Given the description of an element on the screen output the (x, y) to click on. 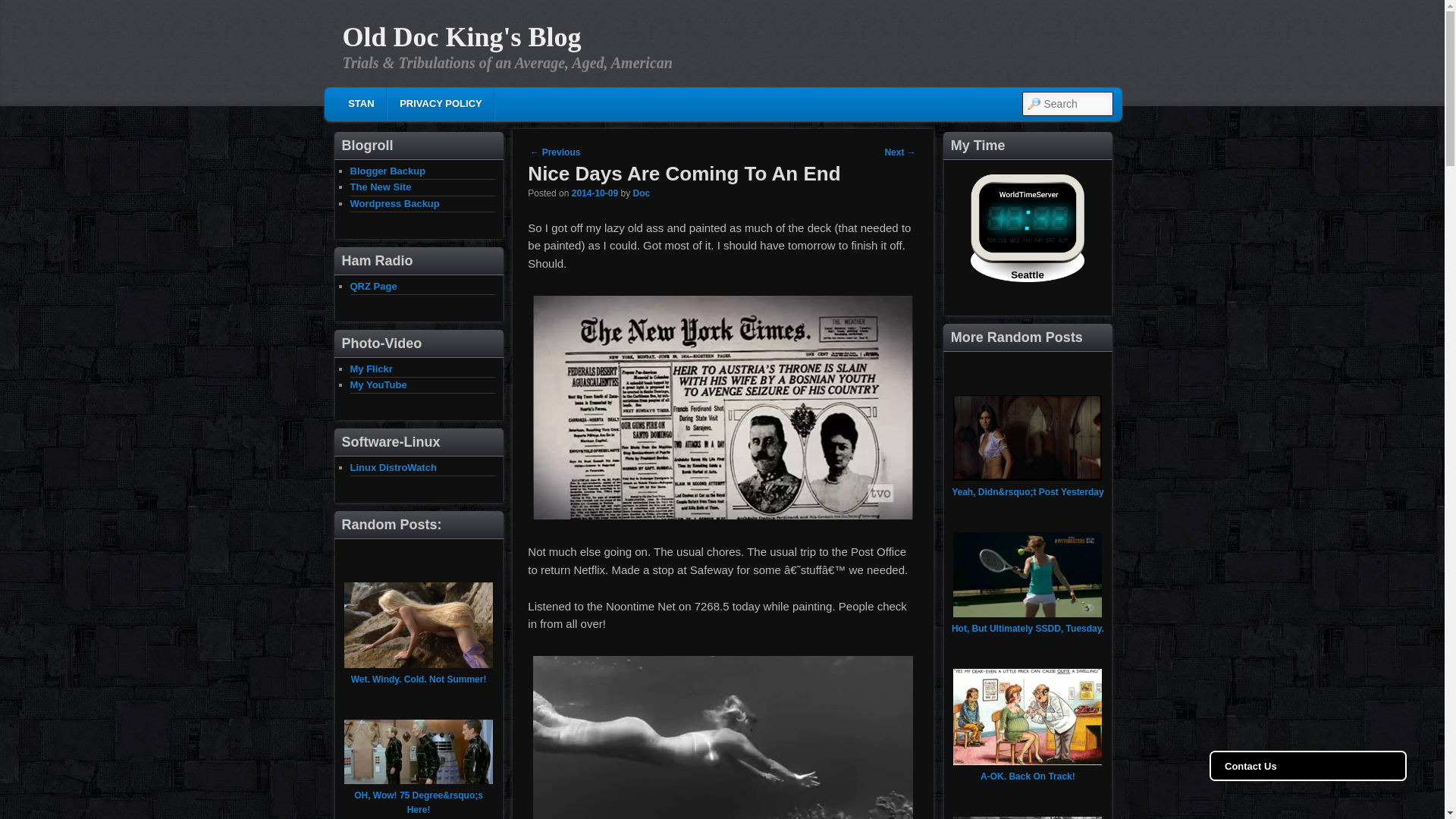
Skip to primary content (435, 106)
vlcsnap-00120 (723, 407)
Blogger Backup (388, 170)
My Flickr (371, 367)
Search (24, 8)
QRZ Page (373, 285)
Wet. Windy. Cold. Not Summer! (418, 679)
My YouTube (378, 384)
2012 (594, 193)
Old Doc King's Blog (461, 37)
STAN (360, 103)
Doc (640, 193)
Linux DistroWatch (393, 467)
2014-10-09 (594, 193)
